Given the description of an element on the screen output the (x, y) to click on. 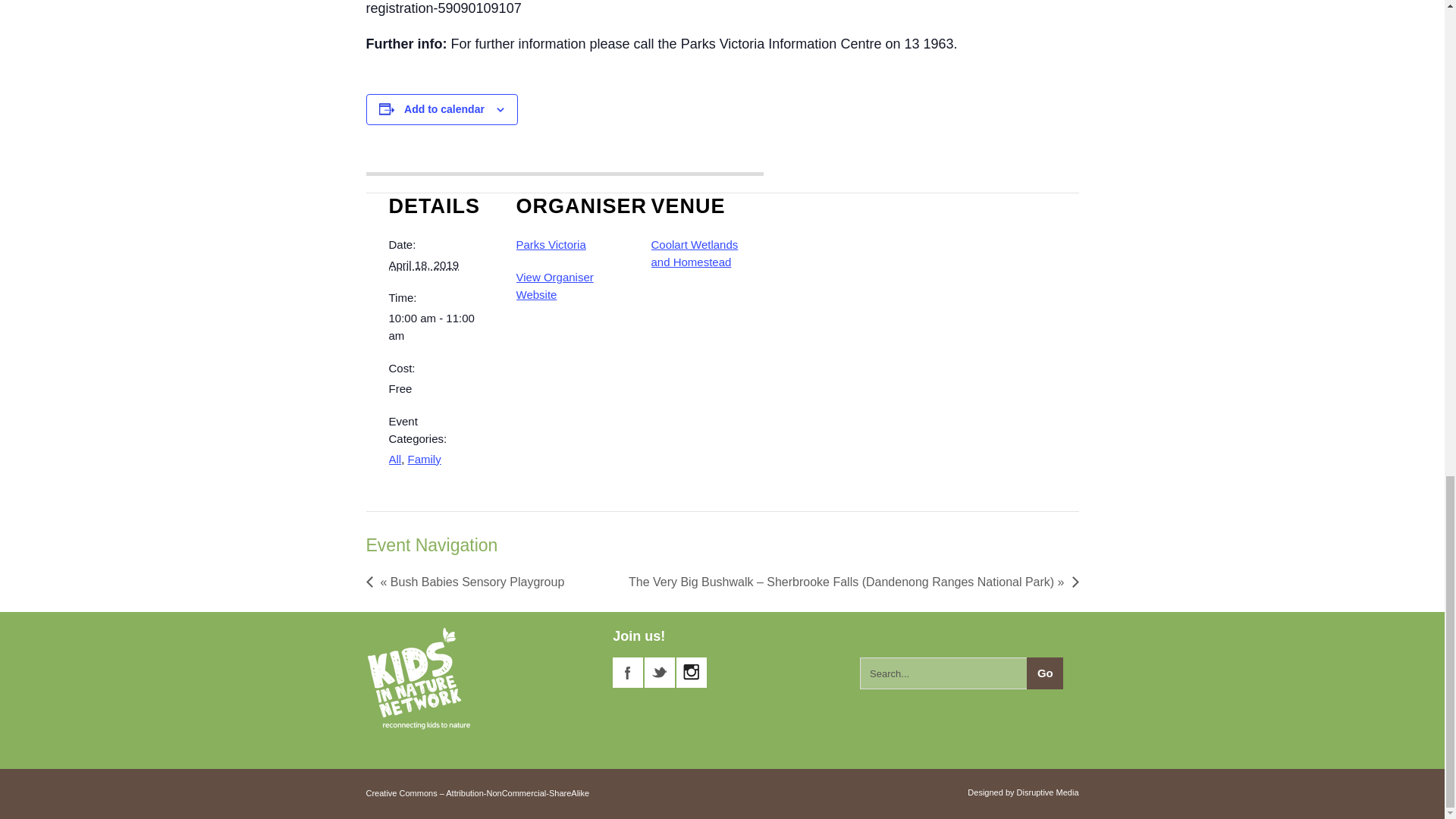
Search... (961, 673)
Go (1044, 673)
Parks Victoria (550, 244)
2019-04-18 (432, 326)
Go (1044, 673)
2019-04-18 (423, 264)
Search... (961, 673)
